Given the description of an element on the screen output the (x, y) to click on. 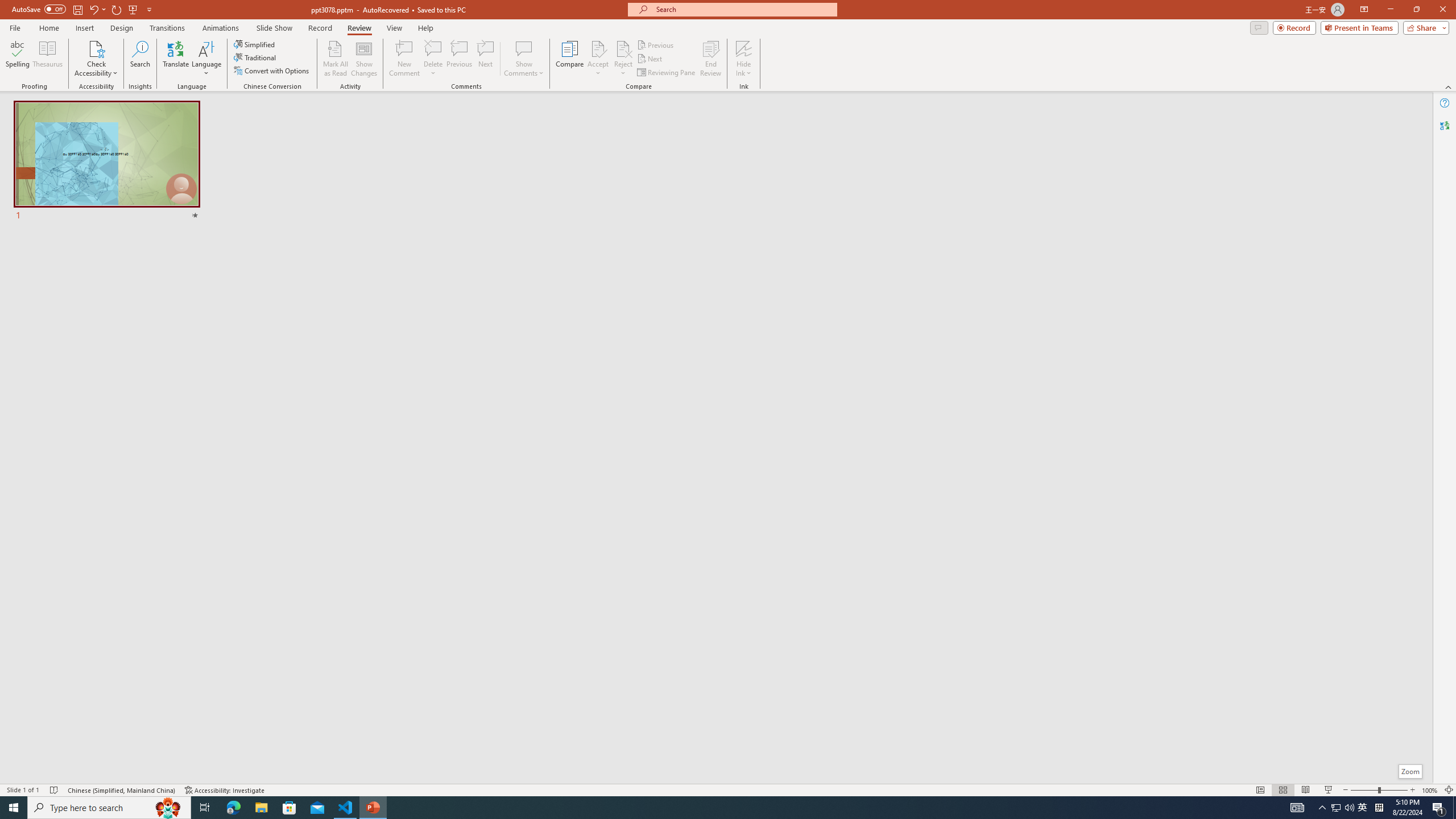
Traditional (255, 56)
Check Accessibility (95, 48)
Delete (432, 58)
Show Comments (524, 58)
Simplified (254, 44)
